Given the description of an element on the screen output the (x, y) to click on. 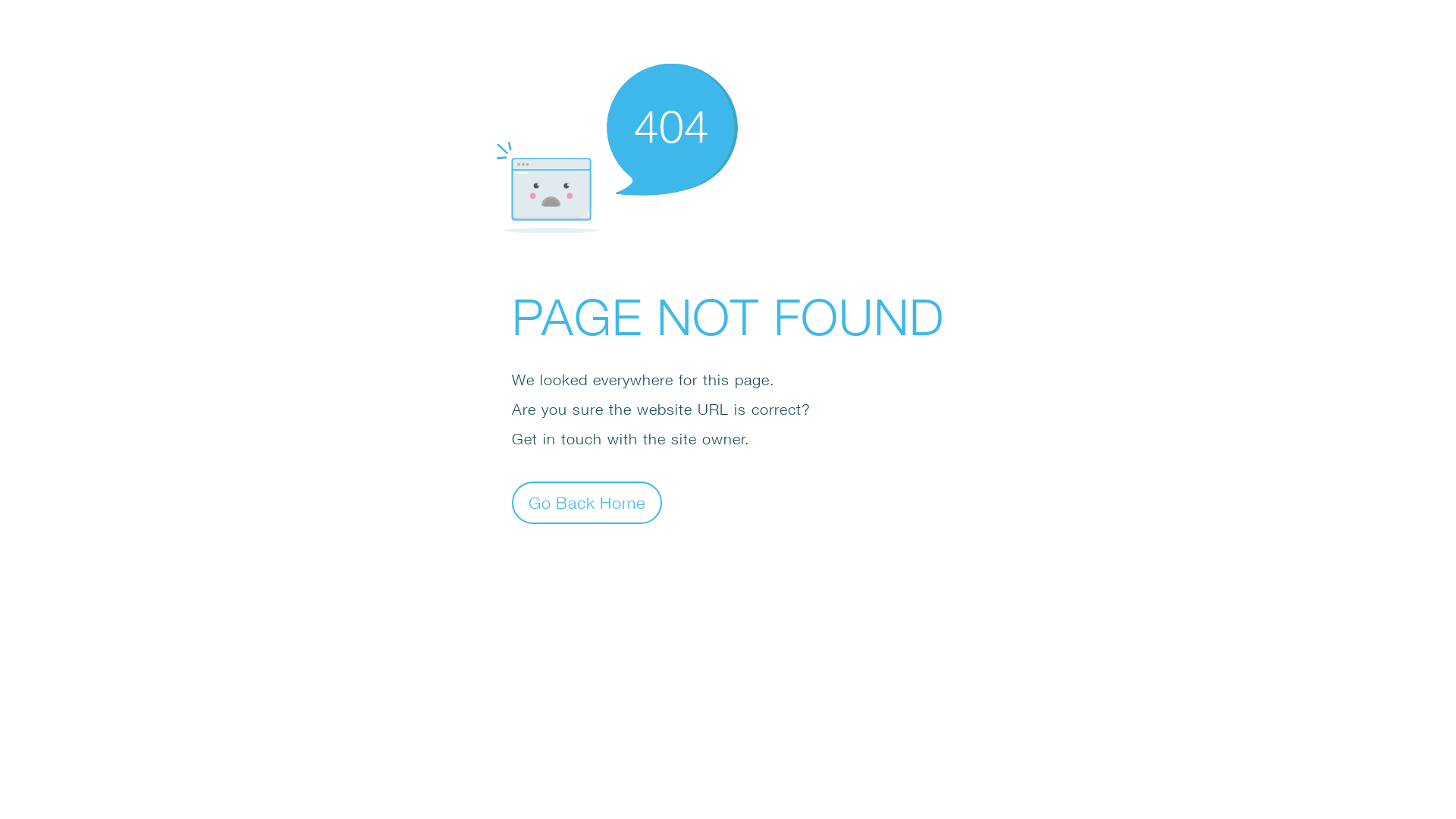
Go Back Home Element type: text (586, 502)
